Given the description of an element on the screen output the (x, y) to click on. 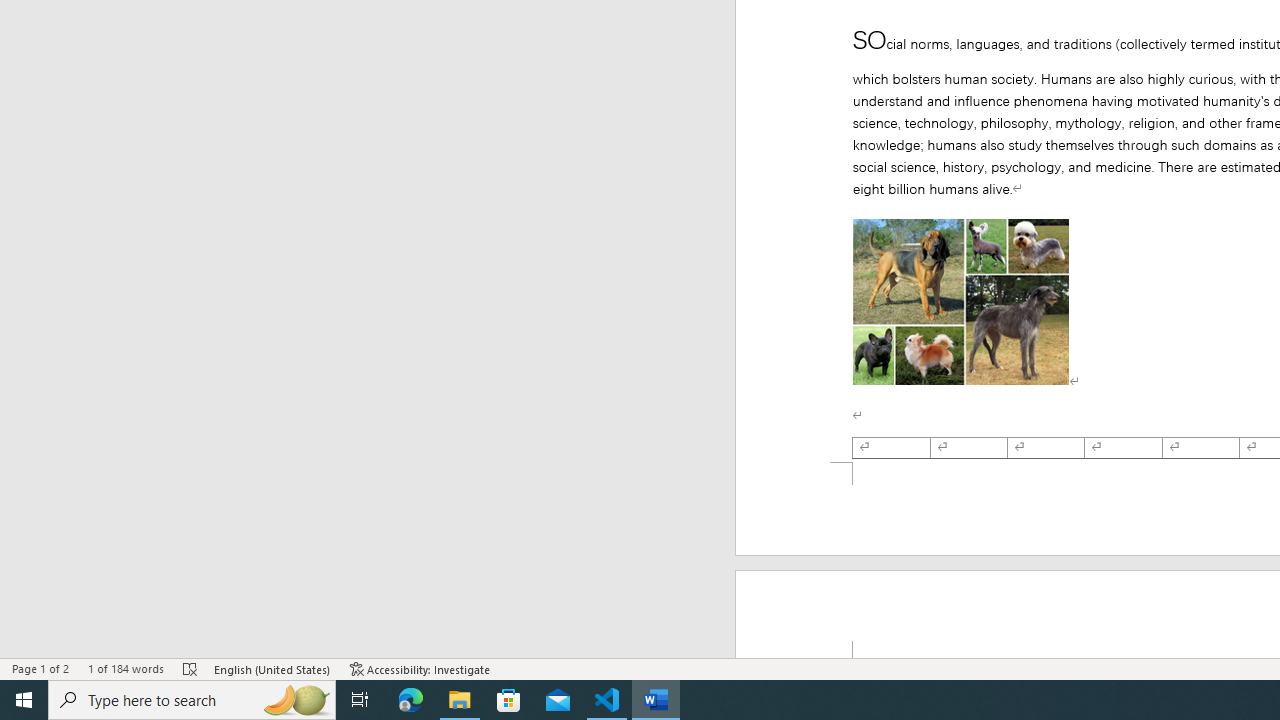
Page Number Page 1 of 2 (39, 668)
Spelling and Grammar Check Errors (191, 668)
Morphological variation in six dogs (960, 301)
